Given the description of an element on the screen output the (x, y) to click on. 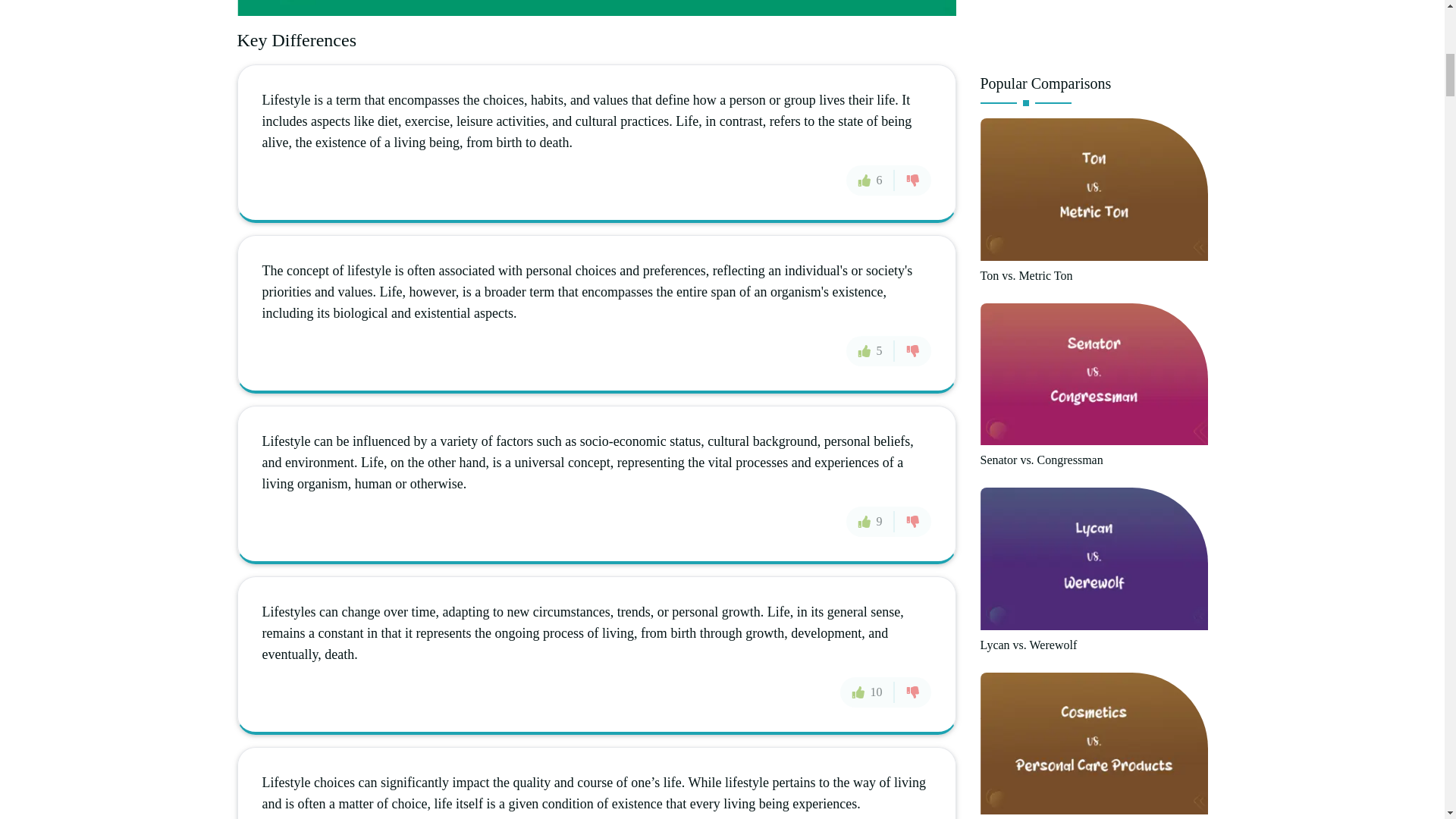
10 (867, 691)
5 (870, 349)
6 (870, 180)
9 (870, 521)
